Given the description of an element on the screen output the (x, y) to click on. 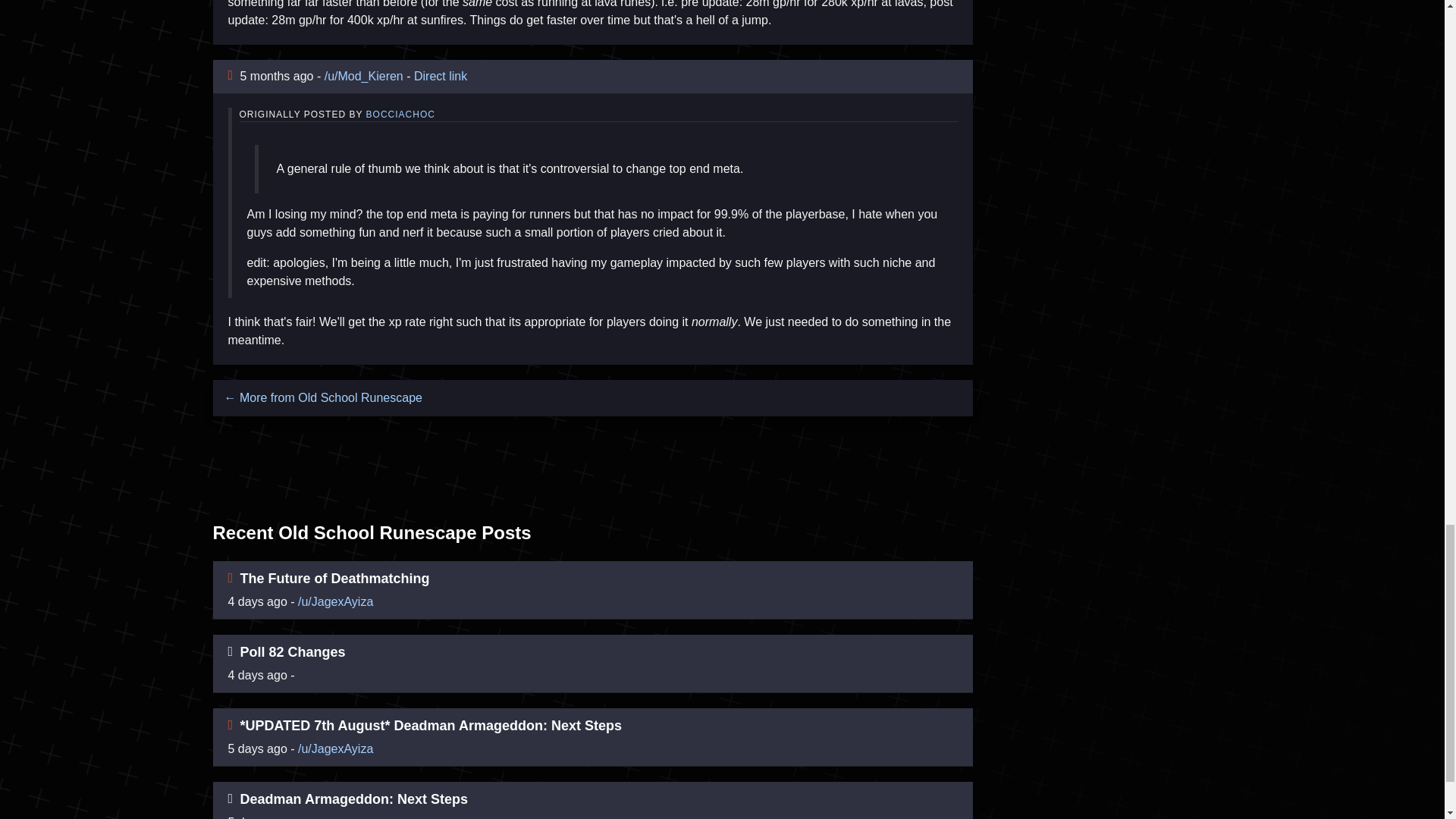
Poll 82 Changes (293, 652)
BOCCIACHOC (400, 113)
The Future of Deathmatching (334, 578)
Direct link (440, 75)
Deadman Armageddon: Next Steps (353, 798)
